Given the description of an element on the screen output the (x, y) to click on. 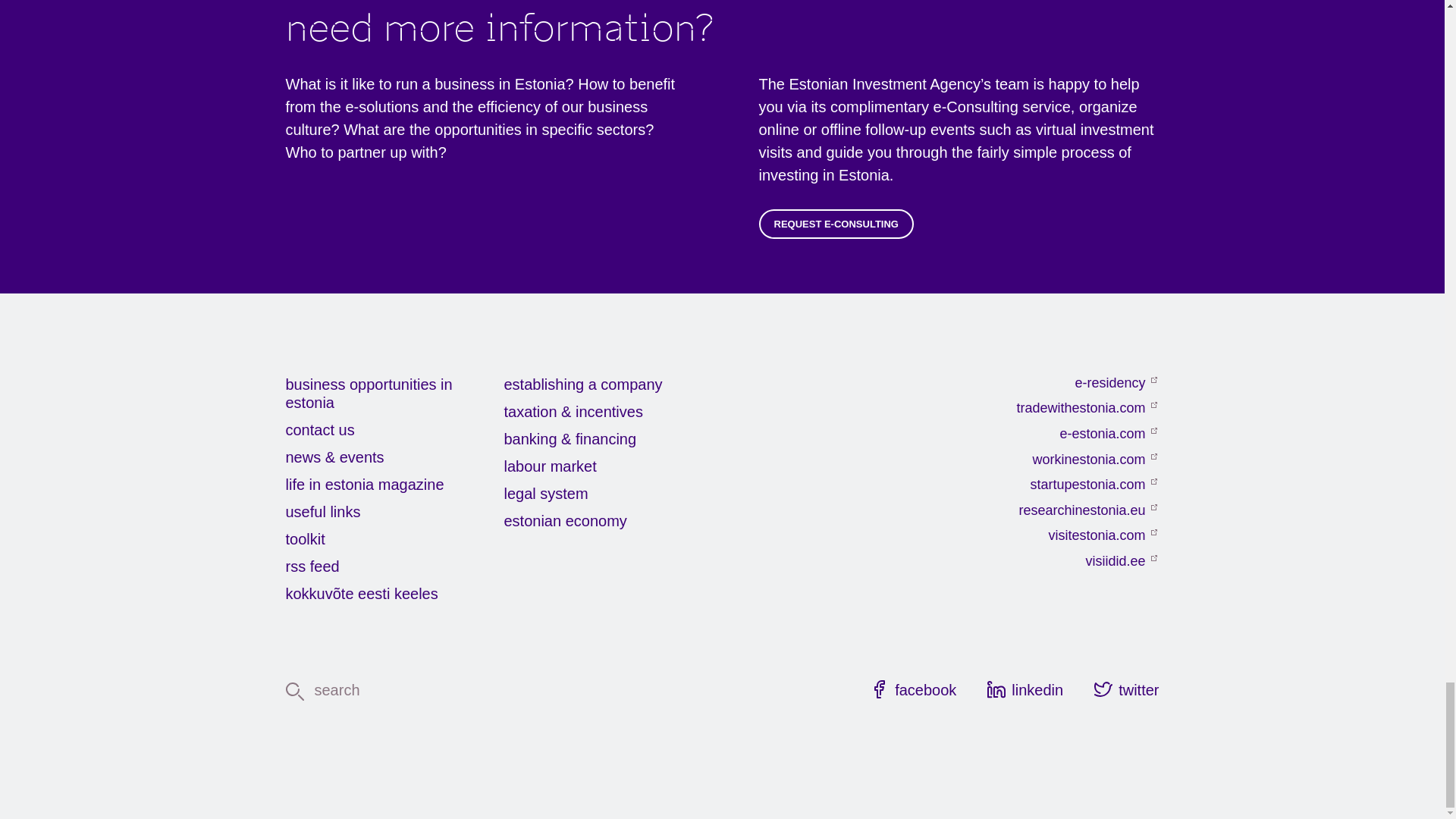
icon-small-facebook (879, 689)
business opportunities in estonia (394, 393)
REQUEST E-CONSULTING (835, 223)
contact us (394, 429)
icon-small-twitter (1103, 689)
icon-small-search (293, 691)
